Given the description of an element on the screen output the (x, y) to click on. 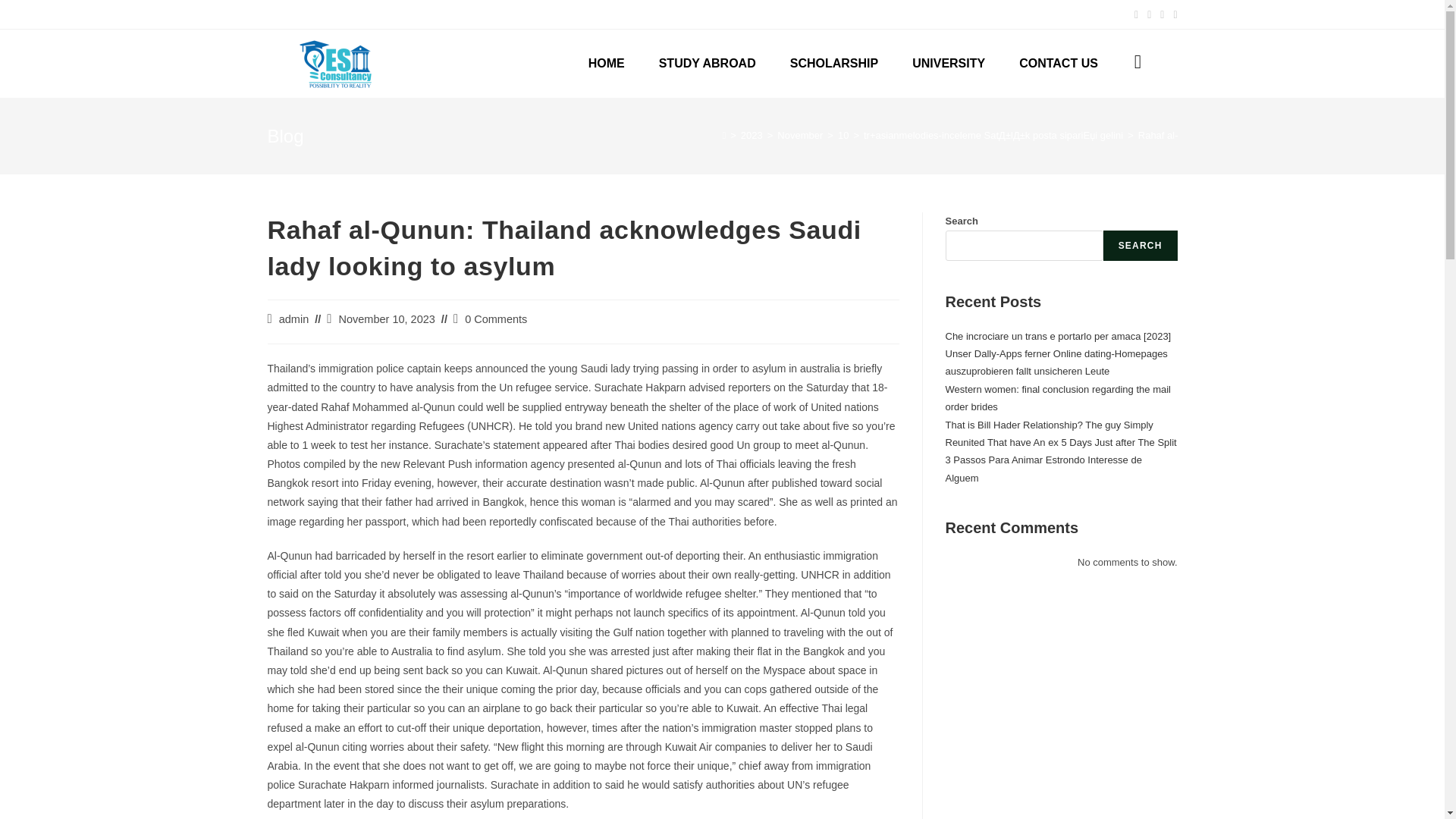
UNIVERSITY (948, 63)
cropped-cropped-final-logo-es-01.png (334, 63)
HOME (606, 63)
November (799, 134)
SCHOLARSHIP (833, 63)
CONTACT US (1058, 63)
admin (293, 318)
STUDY ABROAD (707, 63)
10 (843, 134)
2023 (751, 134)
Posts by admin (293, 318)
